Given the description of an element on the screen output the (x, y) to click on. 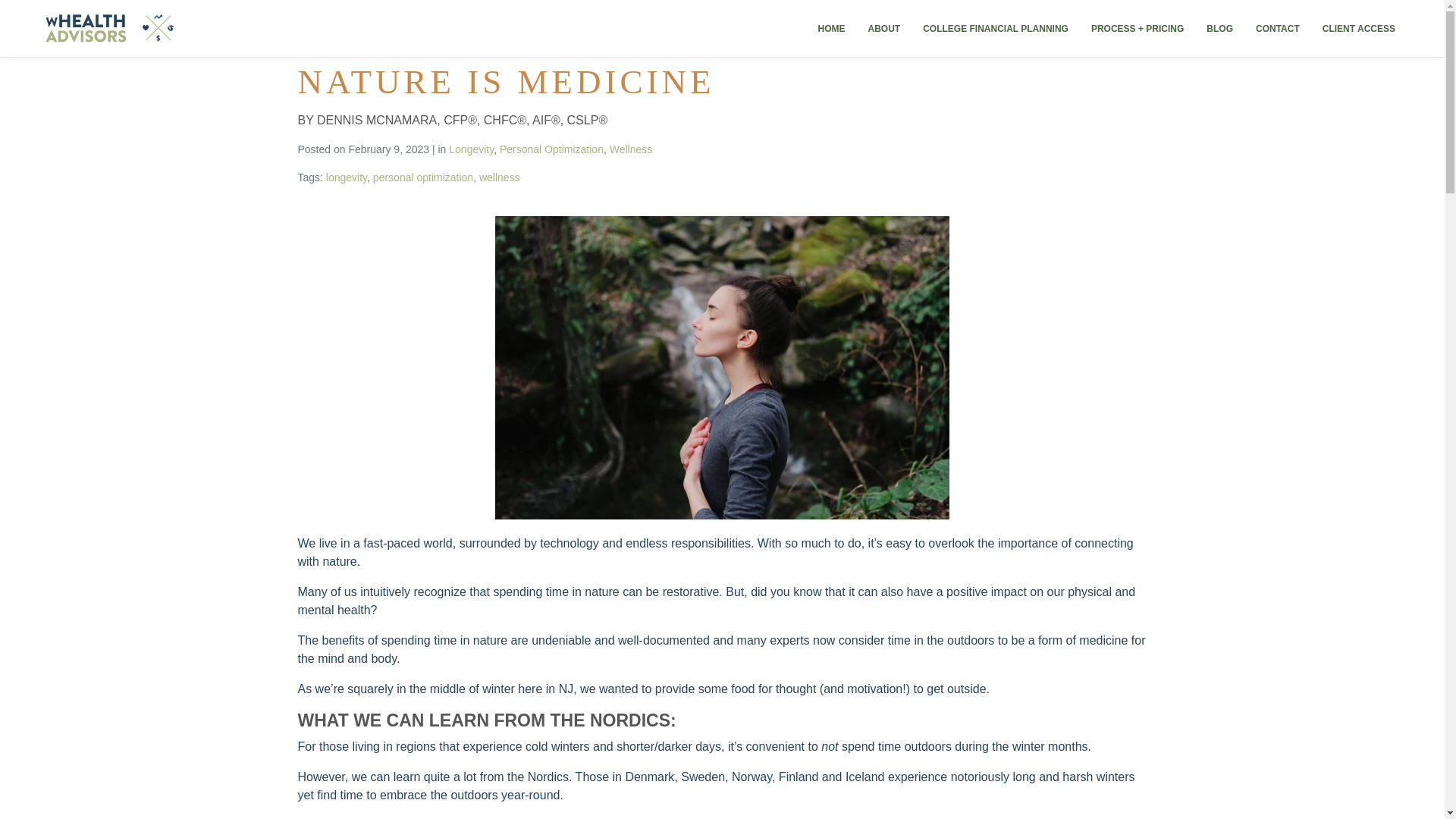
CONTACT (1277, 28)
ABOUT (883, 28)
HOME (830, 28)
COLLEGE FINANCIAL PLANNING (994, 28)
BLOG (1219, 28)
CLIENT ACCESS (1359, 28)
